Given the description of an element on the screen output the (x, y) to click on. 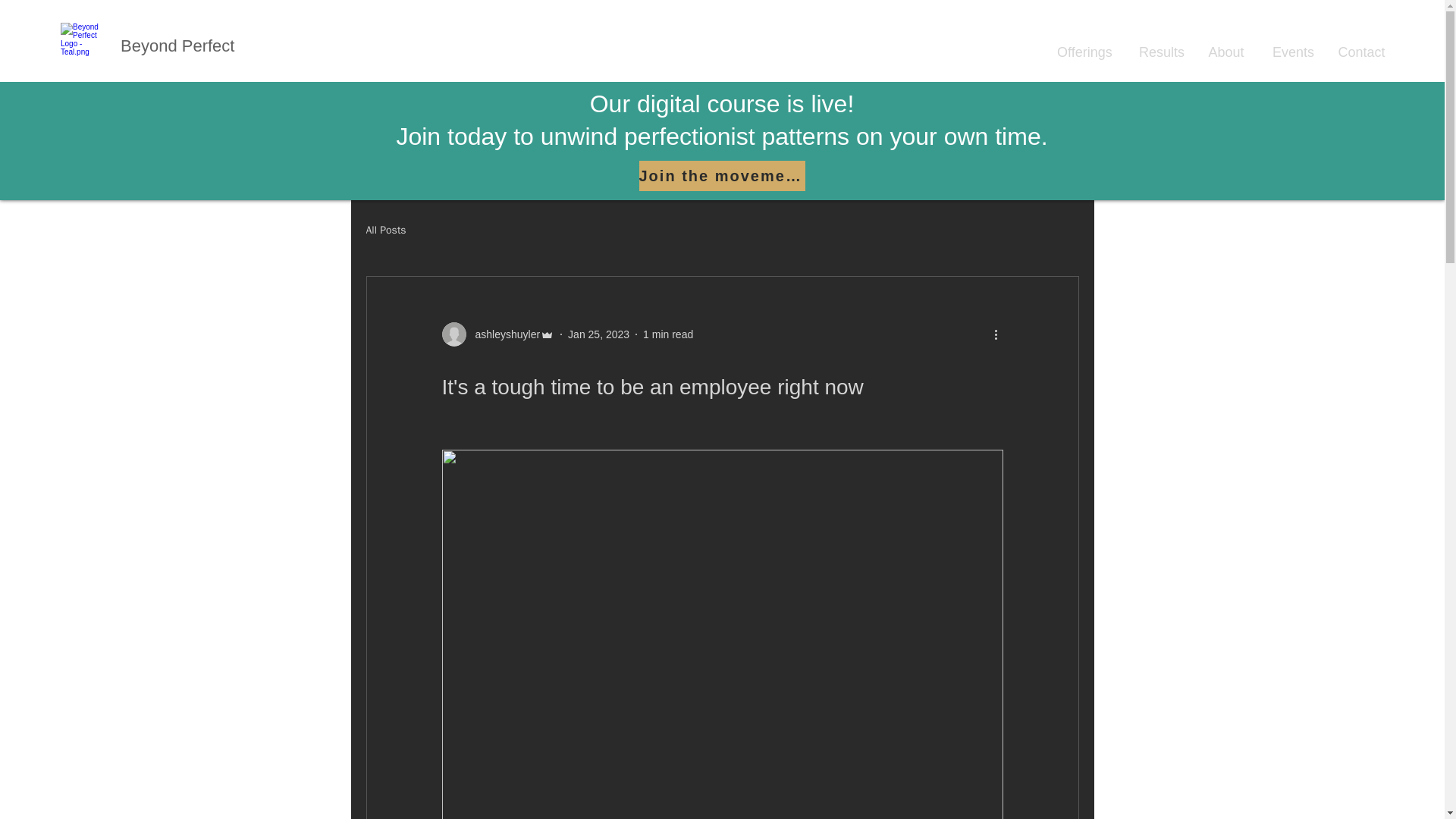
Results (1159, 45)
About (1226, 45)
ashleyshuyler (502, 334)
Contact (1361, 45)
Events (1291, 45)
Offerings (1084, 45)
ashleyshuyler (497, 334)
All Posts (385, 230)
Jan 25, 2023 (597, 334)
1 min read (668, 334)
Join the movement (722, 175)
